Given the description of an element on the screen output the (x, y) to click on. 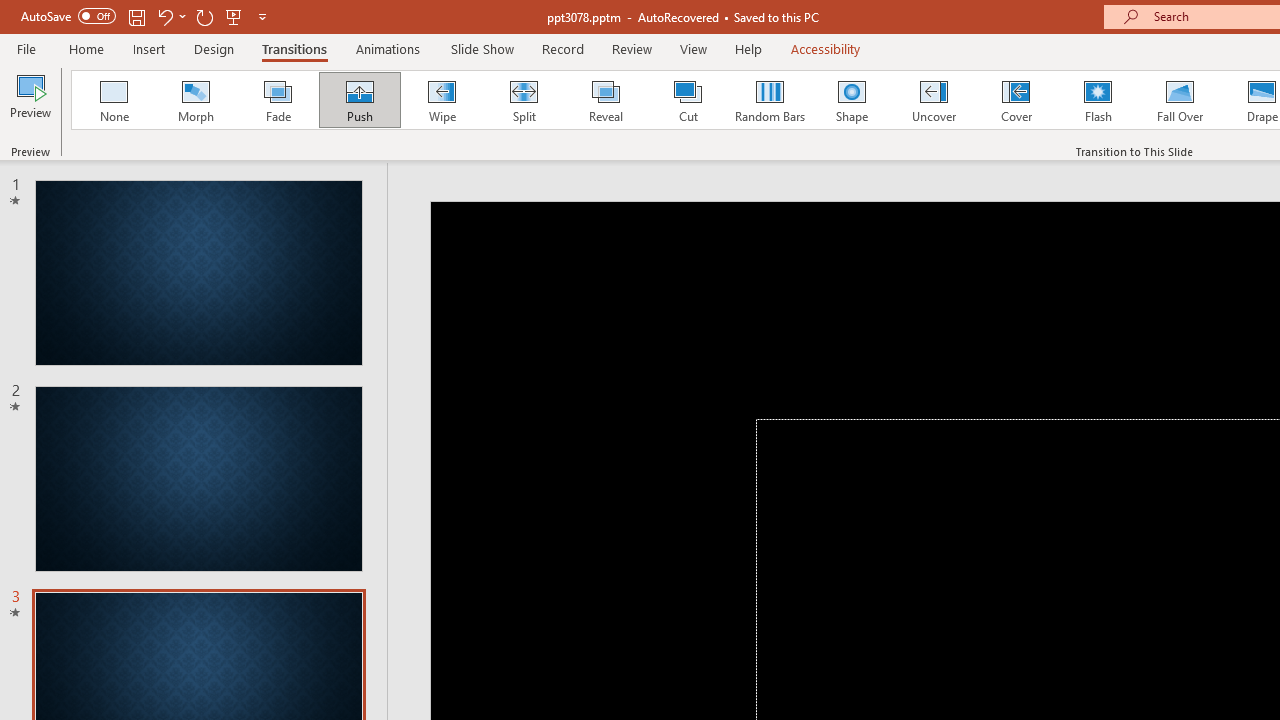
Flash (1098, 100)
Cover (1016, 100)
Wipe (441, 100)
